Given the description of an element on the screen output the (x, y) to click on. 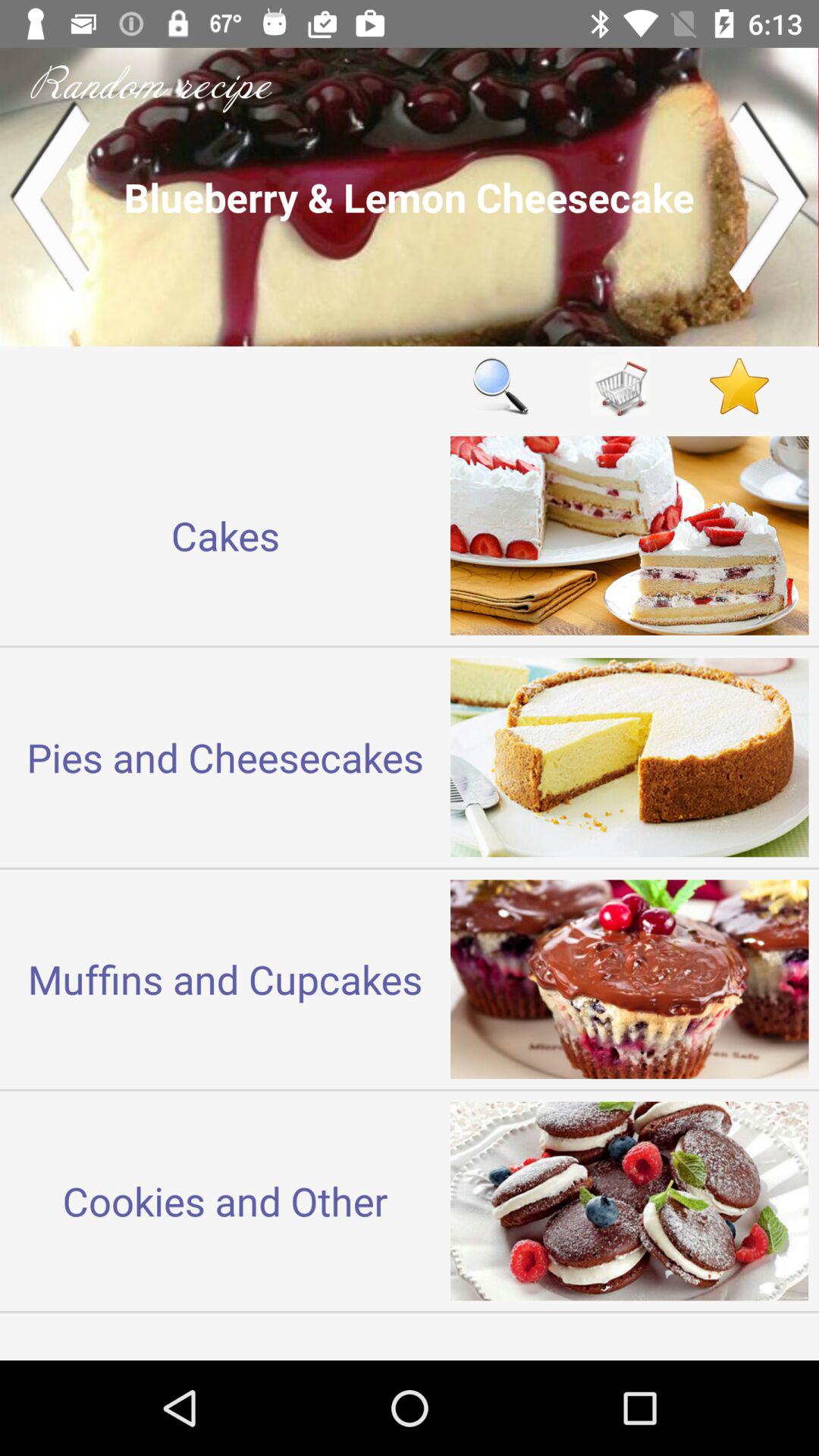
press icon below pies and cheesecakes icon (225, 978)
